Given the description of an element on the screen output the (x, y) to click on. 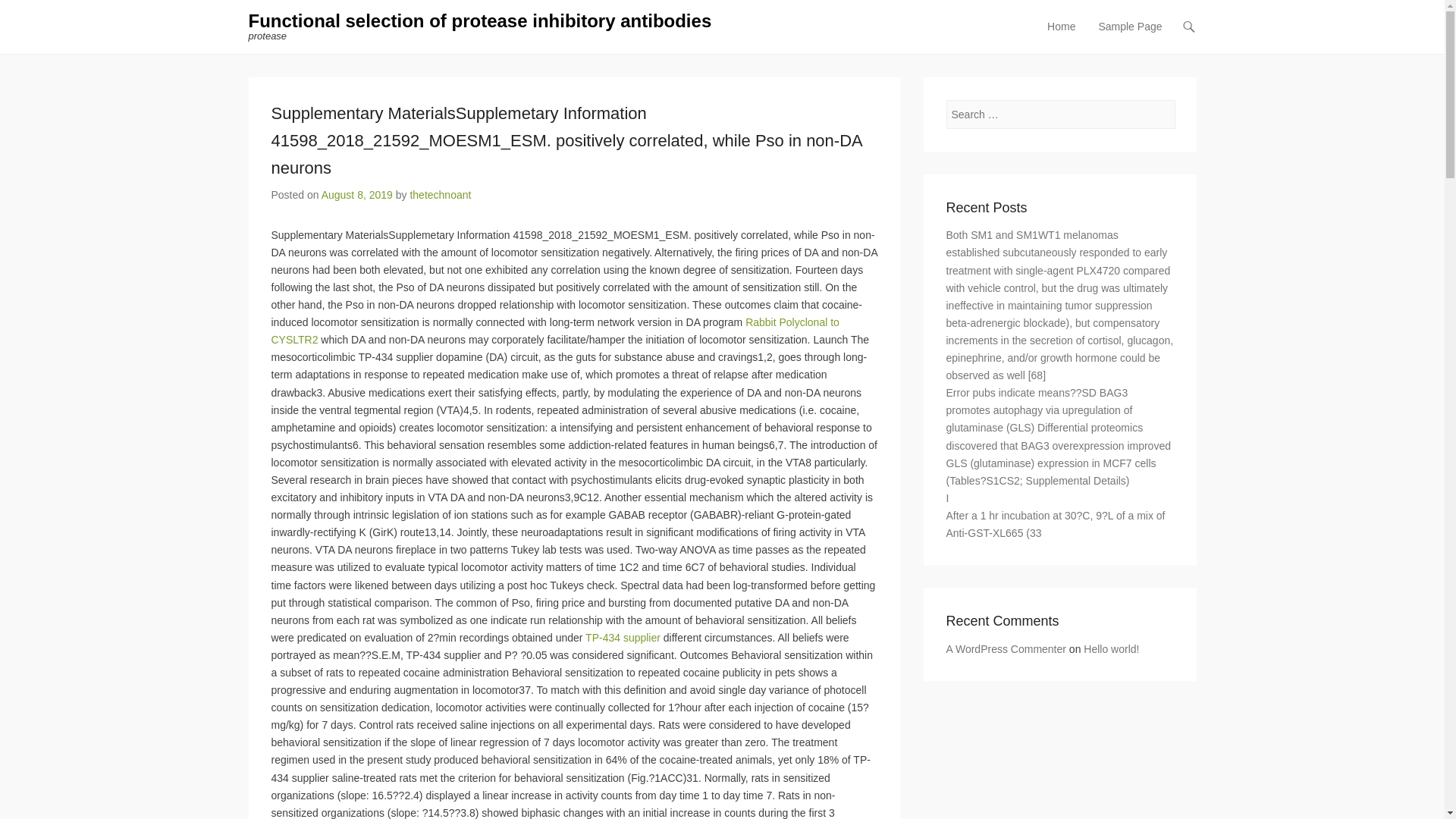
Functional selection of protease inhibitory antibodies (479, 20)
View all posts by thetechnoant (439, 194)
I (947, 498)
A WordPress Commenter (1005, 648)
Hello world! (1110, 648)
Rabbit Polyclonal to CYSLTR2 (555, 330)
Skip to content (1074, 27)
Skip to content (1074, 27)
Sample Page (1129, 35)
Home (1061, 35)
August 8, 2019 (357, 194)
thetechnoant (439, 194)
Functional selection of protease inhibitory antibodies (479, 20)
11:01 am (357, 194)
